Given the description of an element on the screen output the (x, y) to click on. 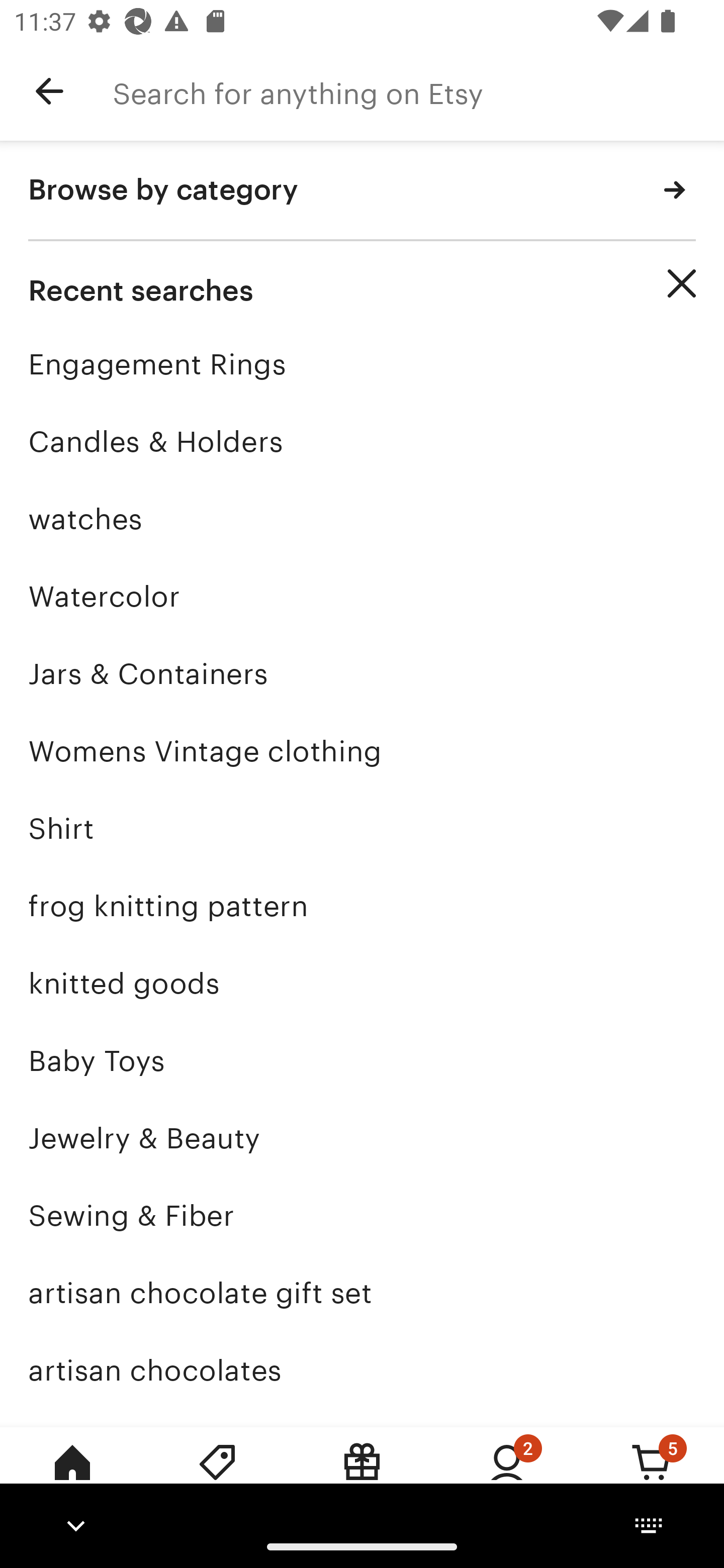
Navigate up (49, 91)
Search for anything on Etsy (418, 91)
Browse by category (362, 191)
Clear (681, 283)
Engagement Rings (362, 364)
Candles & Holders (362, 440)
watches (362, 518)
Watercolor (362, 596)
Jars & Containers (362, 673)
Womens Vintage clothing (362, 750)
Shirt (362, 828)
frog knitting pattern (362, 906)
knitted goods (362, 983)
Baby Toys (362, 1060)
Jewelry & Beauty (362, 1138)
Sewing & Fiber (362, 1215)
artisan chocolate gift set (362, 1292)
artisan chocolates (362, 1370)
Deals (216, 1475)
Gift Mode (361, 1475)
You, 2 new notifications (506, 1475)
Cart, 5 new notifications (651, 1475)
